Given the description of an element on the screen output the (x, y) to click on. 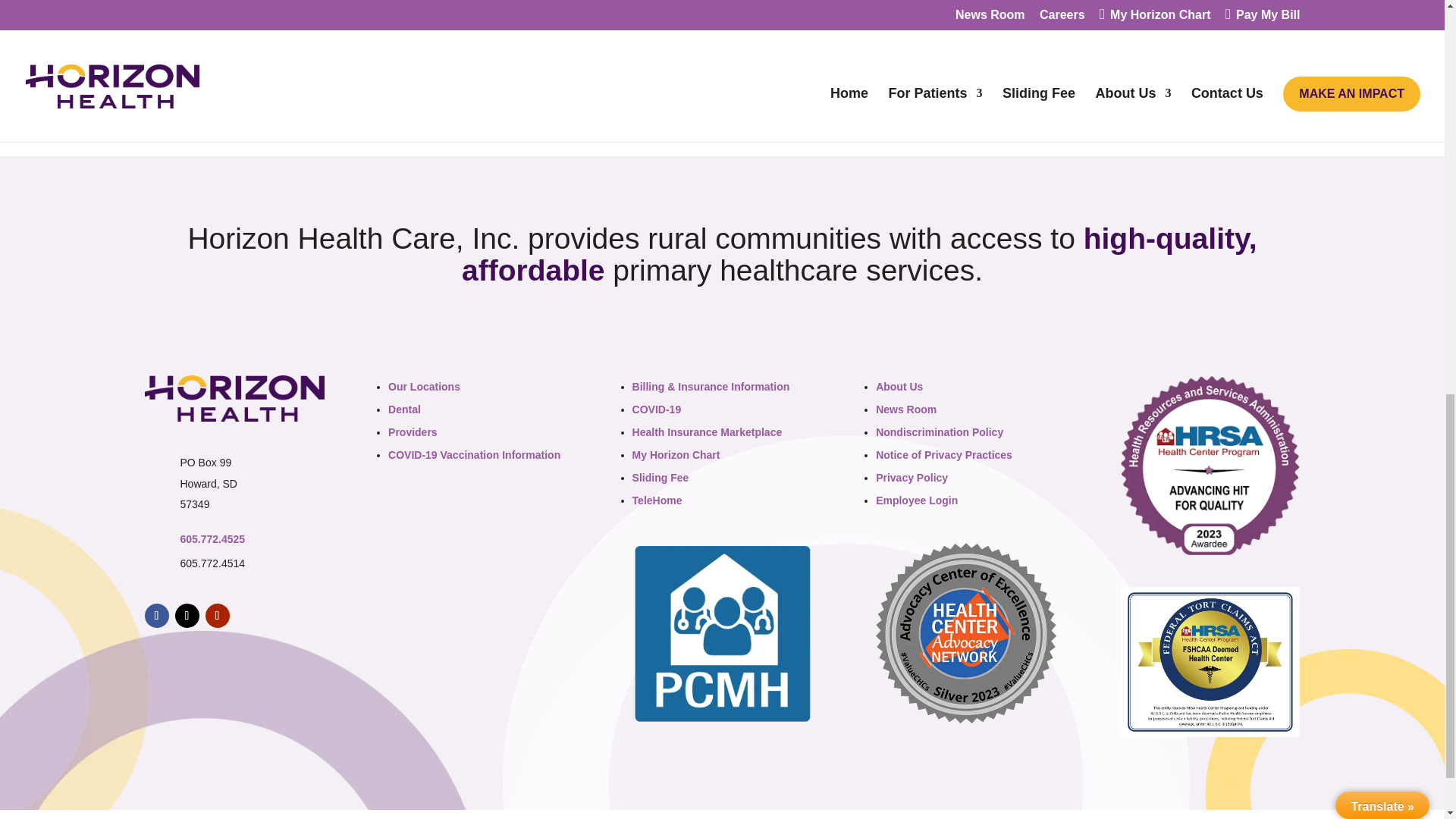
Follow on Youtube (216, 615)
HorizonHealthcare (234, 398)
Follow on X (186, 615)
Follow on Facebook (156, 615)
